Given the description of an element on the screen output the (x, y) to click on. 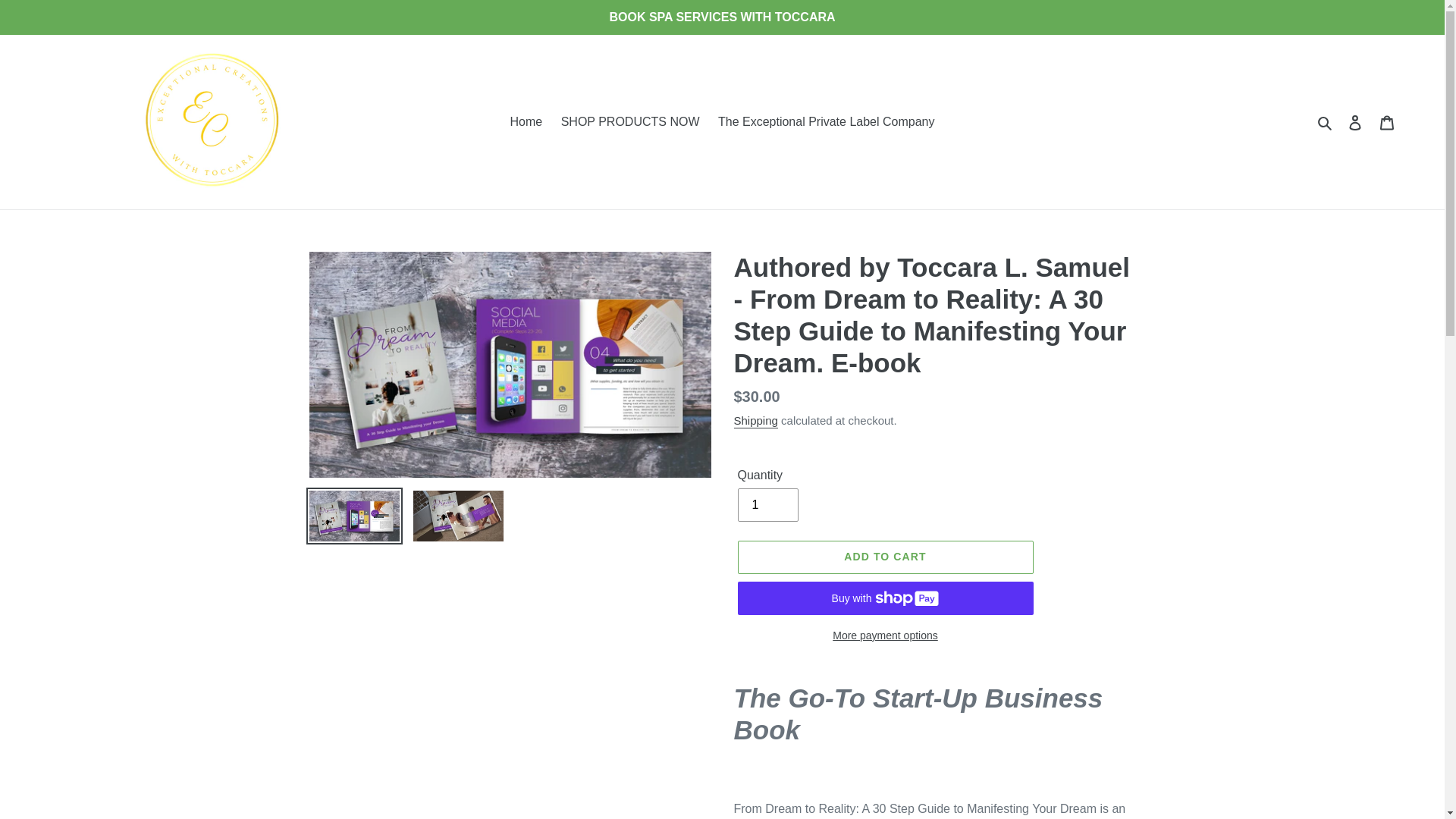
The Exceptional Private Label Company (826, 121)
1 (766, 504)
SHOP PRODUCTS NOW (630, 121)
Cart (1387, 121)
More payment options (884, 635)
Search (1326, 121)
Shipping (755, 421)
ADD TO CART (884, 557)
Log in (1355, 121)
Home (526, 121)
